Given the description of an element on the screen output the (x, y) to click on. 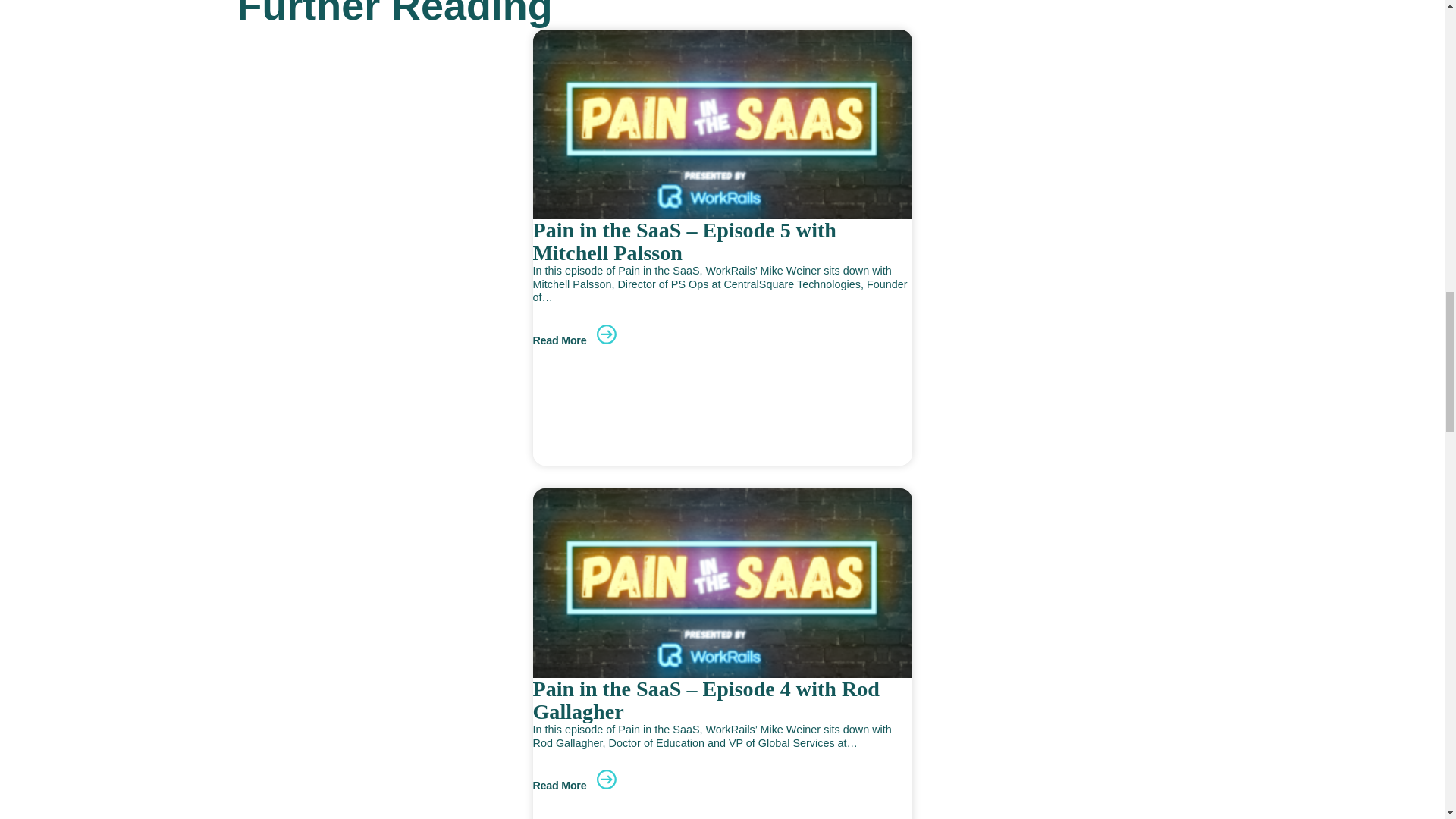
Read More (573, 340)
